Given the description of an element on the screen output the (x, y) to click on. 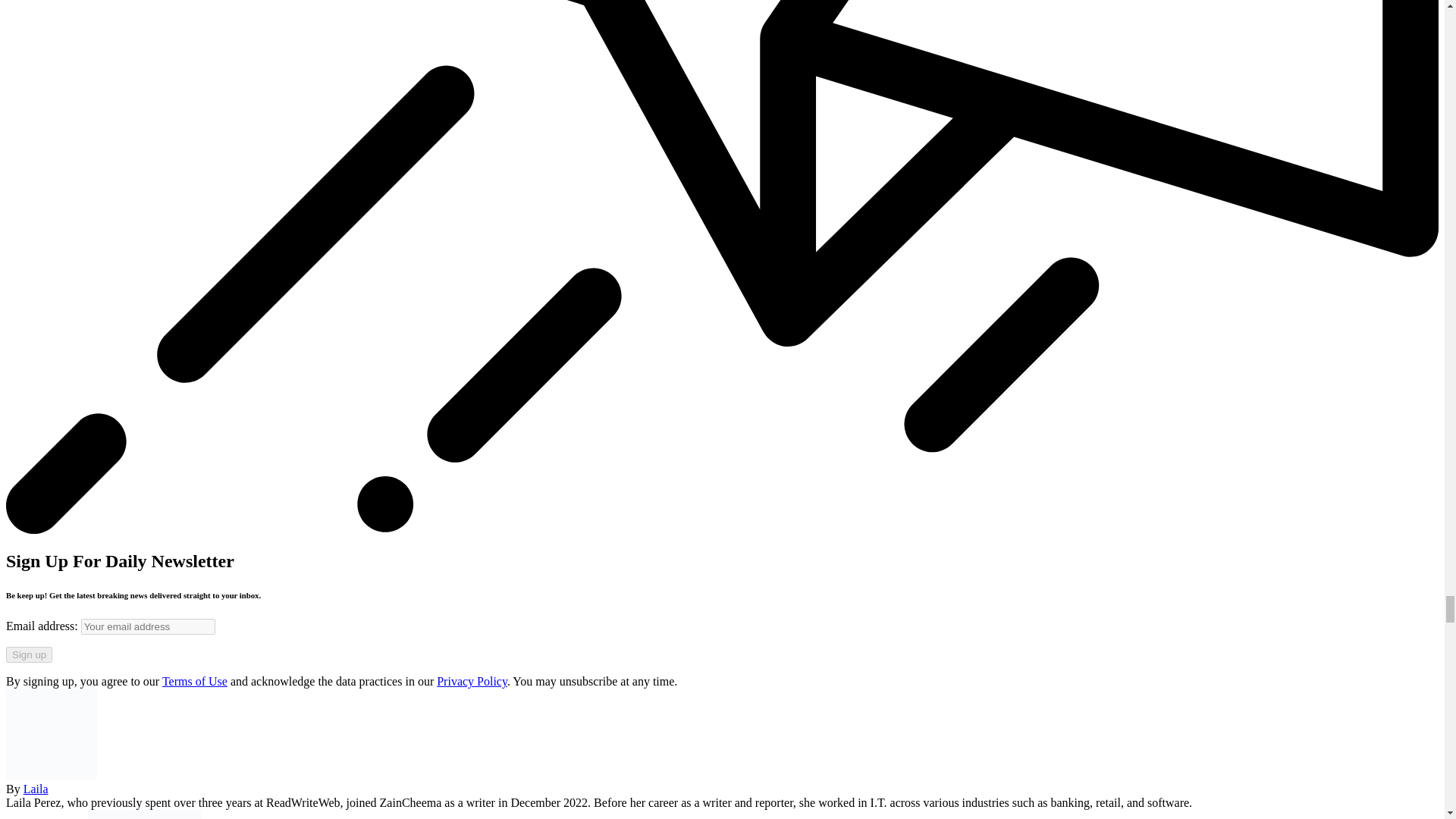
Sign up (28, 654)
